Given the description of an element on the screen output the (x, y) to click on. 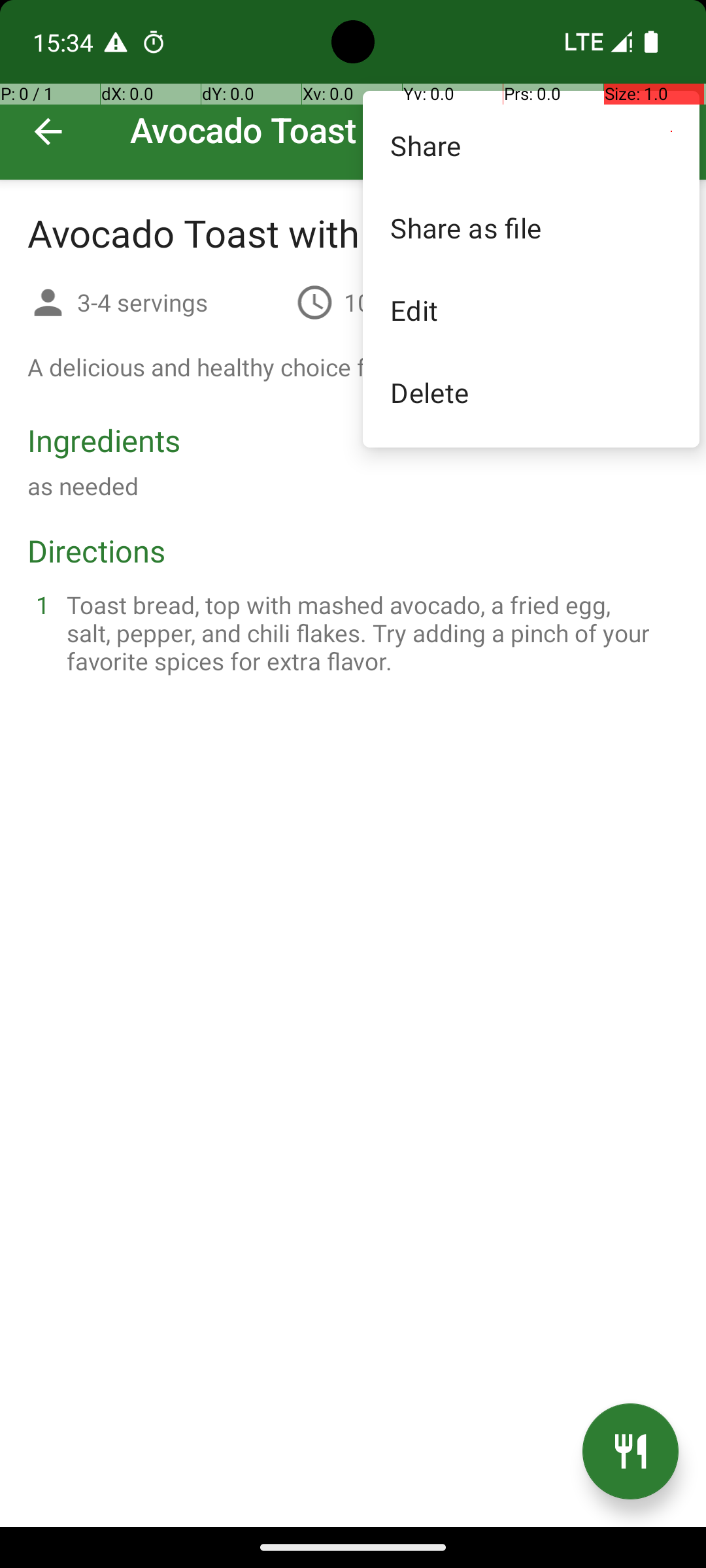
Share as file Element type: android.widget.TextView (531, 227)
